Given the description of an element on the screen output the (x, y) to click on. 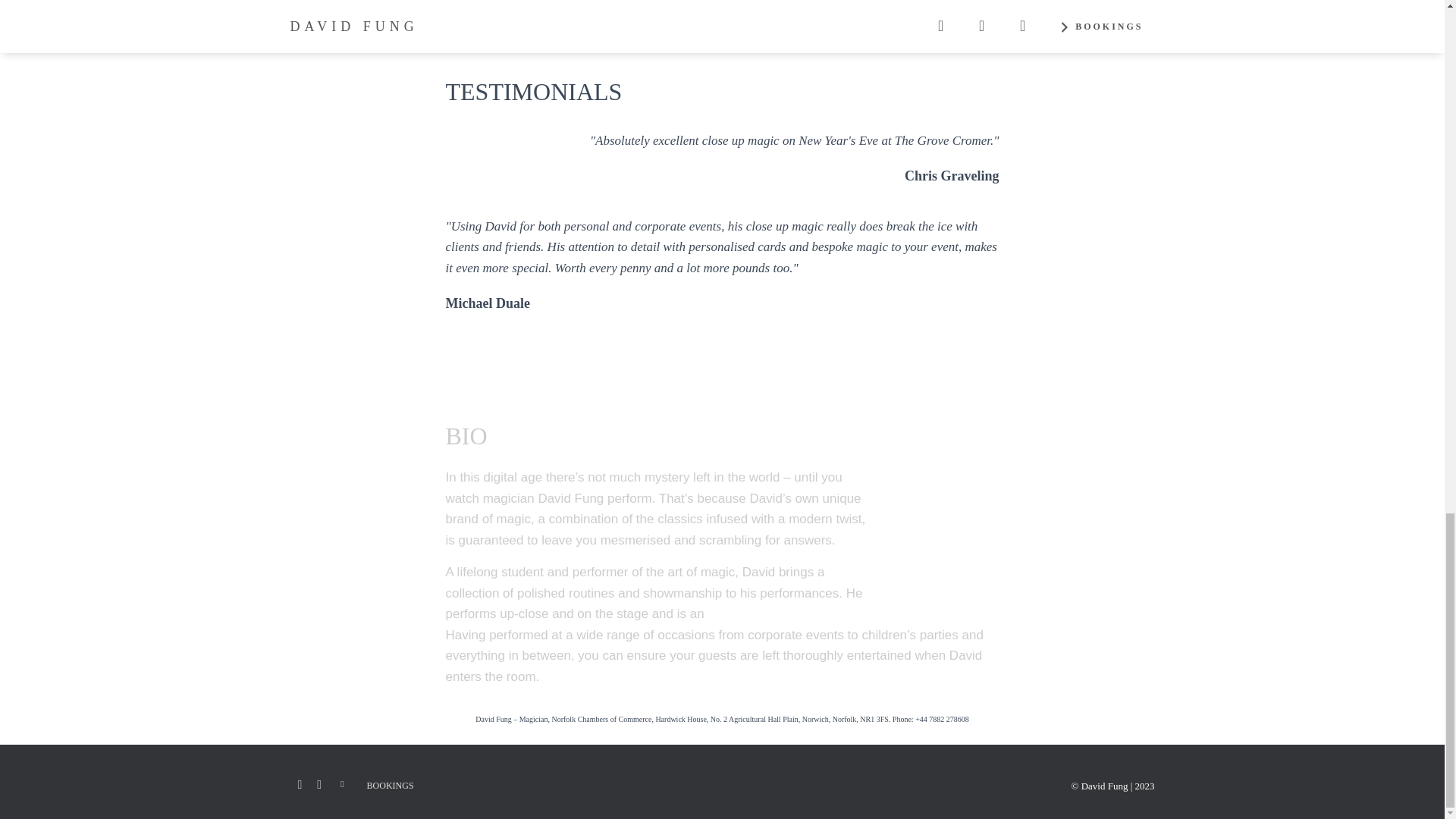
Associate Member of the Inner Magic Circle. (832, 613)
Chris Graveling (951, 176)
Michael Duale (504, 303)
MD Wealth Management (504, 319)
BOOKINGS (390, 785)
The Grove Cromer (951, 192)
BOOKINGS (915, 366)
